Given the description of an element on the screen output the (x, y) to click on. 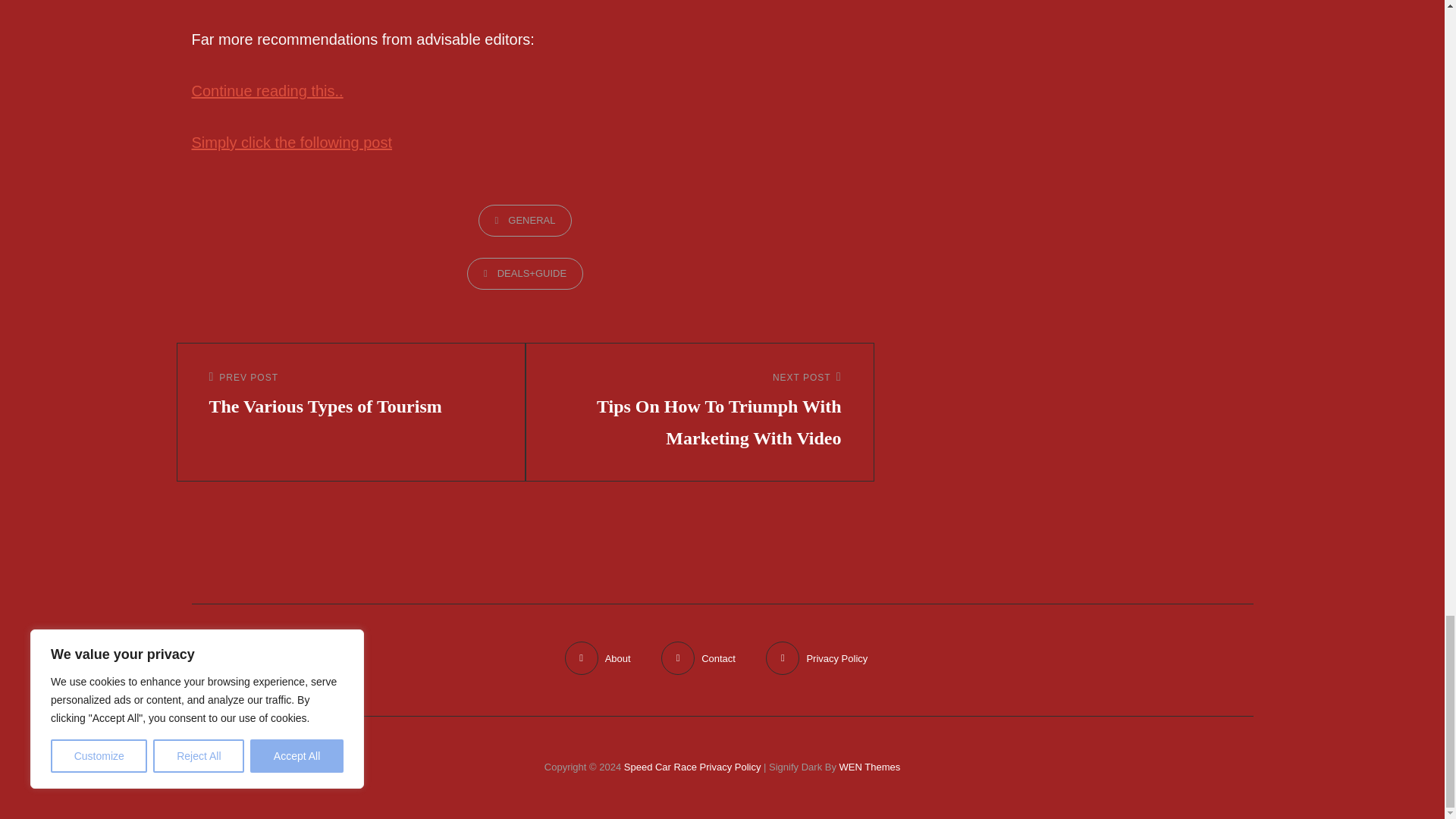
Simply click the following post (290, 142)
GENERAL (525, 219)
Continue reading this.. (351, 395)
